Given the description of an element on the screen output the (x, y) to click on. 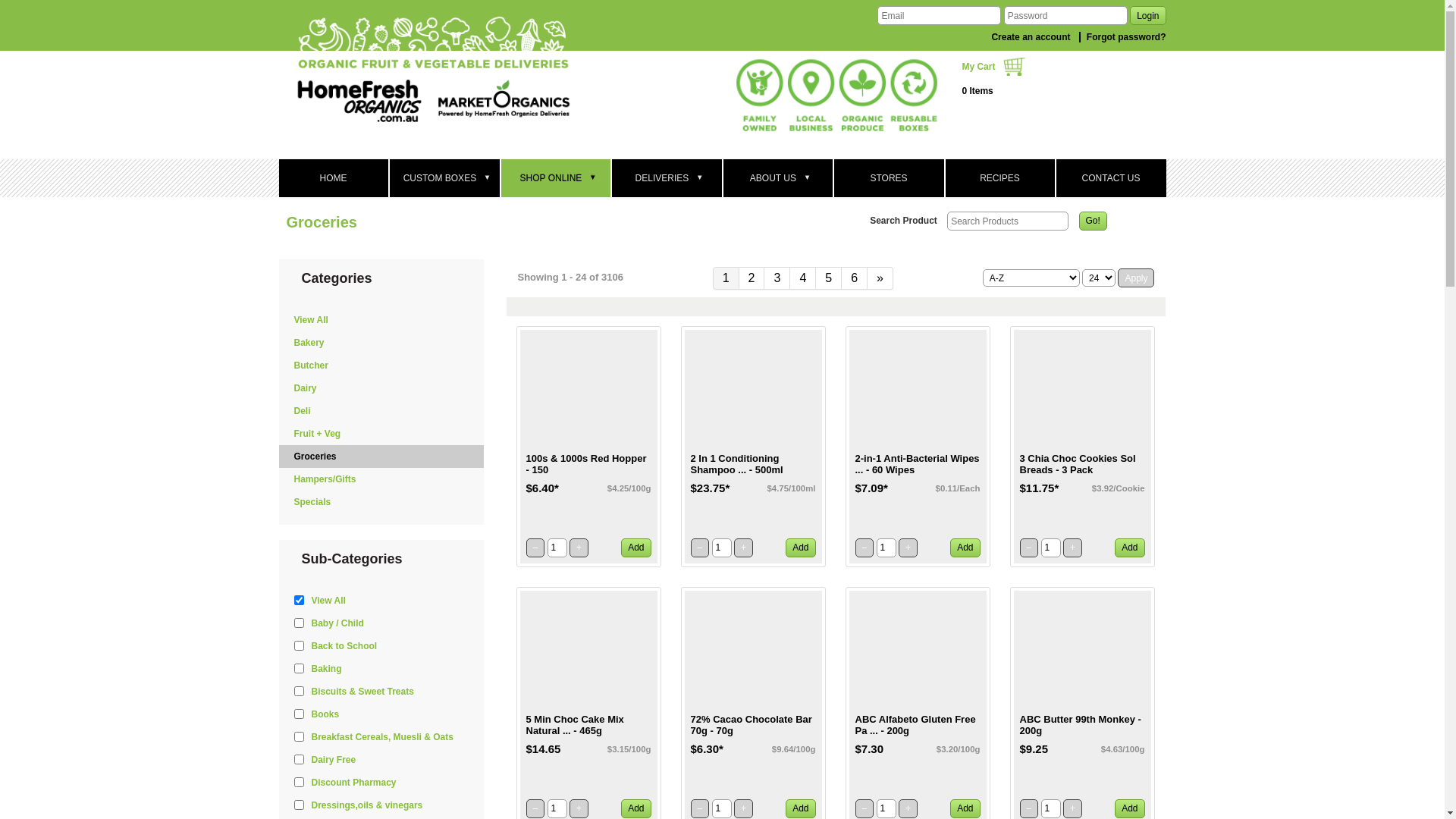
5 Min Choc Cake Mix Natural ... - 465g Element type: text (588, 725)
Add Element type: text (964, 808)
Add Element type: text (800, 547)
Fruit + Veg Element type: text (385, 433)
Apply Element type: text (1135, 277)
HOME Element type: text (333, 178)
Groceries Element type: text (385, 456)
Hampers/Gifts Element type: text (385, 478)
+ Element type: text (743, 547)
STORES Element type: text (889, 178)
Add Element type: text (635, 808)
Deli Element type: text (385, 410)
RECIPES Element type: text (999, 178)
100s & 1000s Red Hopper - 150 Element type: text (588, 464)
Dairy Element type: text (385, 387)
5 Element type: text (828, 277)
2 In 1 Conditioning Shampoo ... - 500ml Element type: text (752, 464)
Go! Element type: text (1093, 220)
6 Element type: text (854, 277)
+ Element type: text (743, 808)
Add Element type: text (964, 547)
3 Chia Choc Cookies Sol Breads - 3 Pack Element type: text (1081, 464)
2 Element type: text (752, 277)
+ Element type: text (907, 808)
CUSTOM BOXES Element type: text (444, 178)
Bakery Element type: text (385, 342)
2-in-1 Anti-Bacterial Wipes ... - 60 Wipes Element type: text (917, 464)
Create an account Element type: text (1027, 36)
Forgot password? Element type: text (1122, 36)
DELIVERIES Element type: text (666, 178)
SHOP ONLINE Element type: text (554, 178)
Add Element type: text (800, 808)
ABOUT US Element type: text (777, 178)
72% Cacao Chocolate Bar 70g - 70g Element type: text (752, 725)
  Element type: text (443, 72)
View All Element type: text (385, 319)
+ Element type: text (907, 547)
Add Element type: text (1129, 547)
1 Element type: text (725, 277)
+ Element type: text (578, 547)
ABC Butter 99th Monkey - 200g Element type: text (1081, 725)
Butcher Element type: text (385, 365)
Specials Element type: text (385, 501)
3 Element type: text (777, 277)
CONTACT US Element type: text (1110, 178)
4 Element type: text (802, 277)
+ Element type: text (1072, 547)
Add Element type: text (1129, 808)
Login Element type: text (1147, 15)
ABC Alfabeto Gluten Free Pa ... - 200g Element type: text (917, 725)
+ Element type: text (578, 808)
Add Element type: text (635, 547)
+ Element type: text (1072, 808)
